Given the description of an element on the screen output the (x, y) to click on. 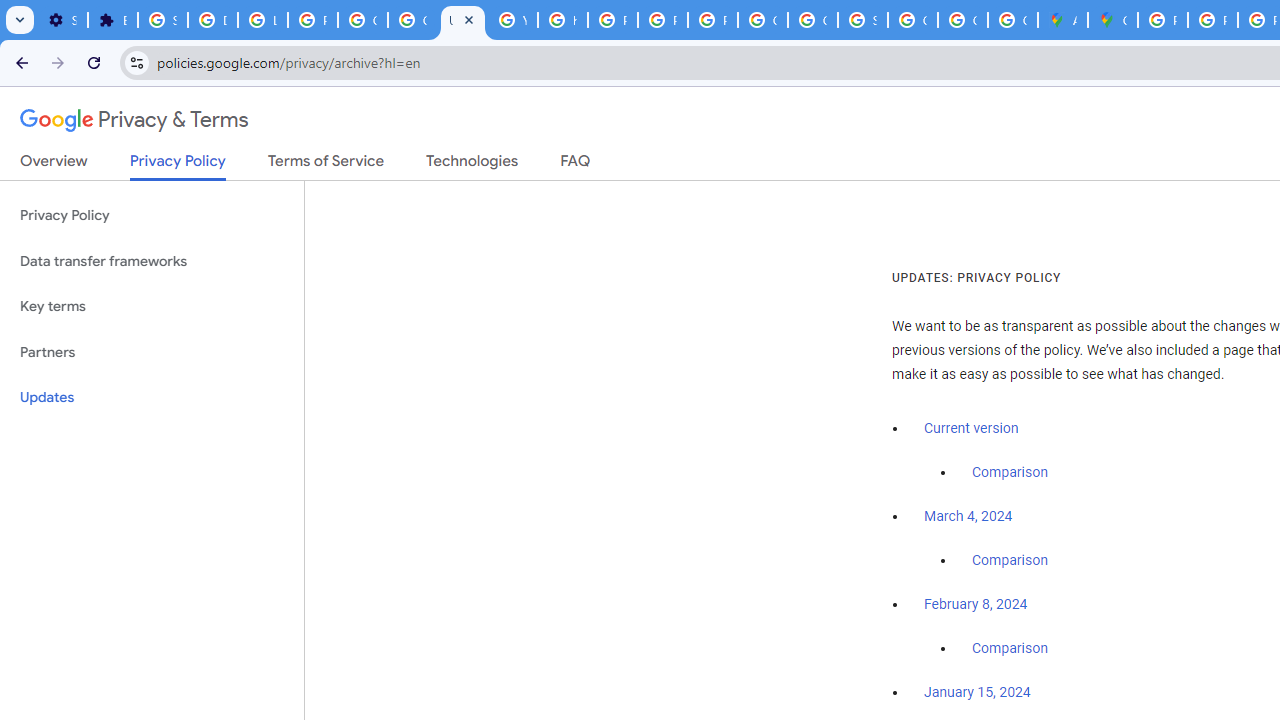
Data transfer frameworks (152, 261)
Extensions (113, 20)
Privacy Help Center - Policies Help (1212, 20)
Comparison (1009, 649)
Partners (152, 352)
Current version (971, 428)
YouTube (512, 20)
Privacy Help Center - Policies Help (612, 20)
Google Maps (1112, 20)
